Given the description of an element on the screen output the (x, y) to click on. 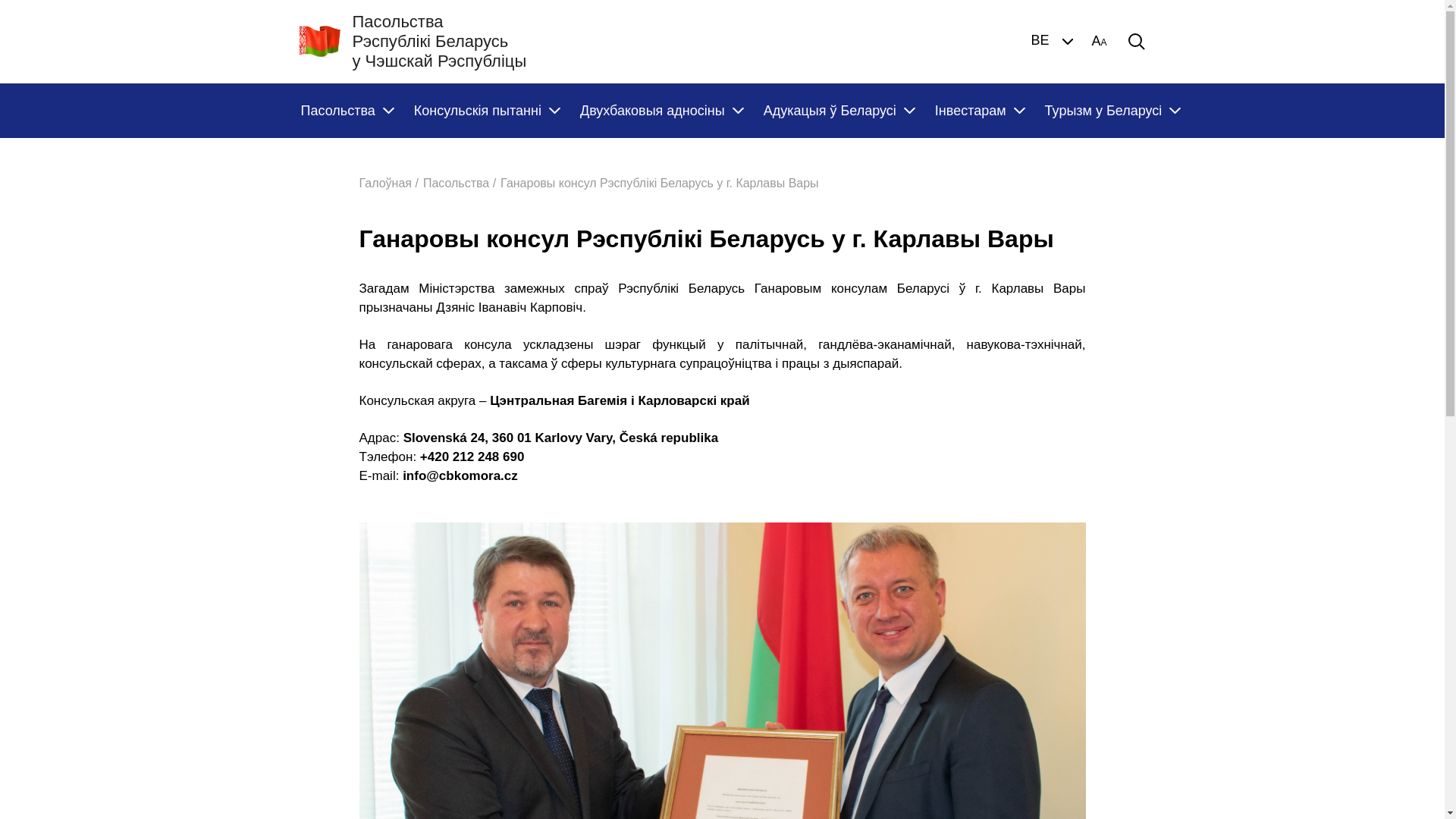
AA Element type: text (1098, 41)
